Given the description of an element on the screen output the (x, y) to click on. 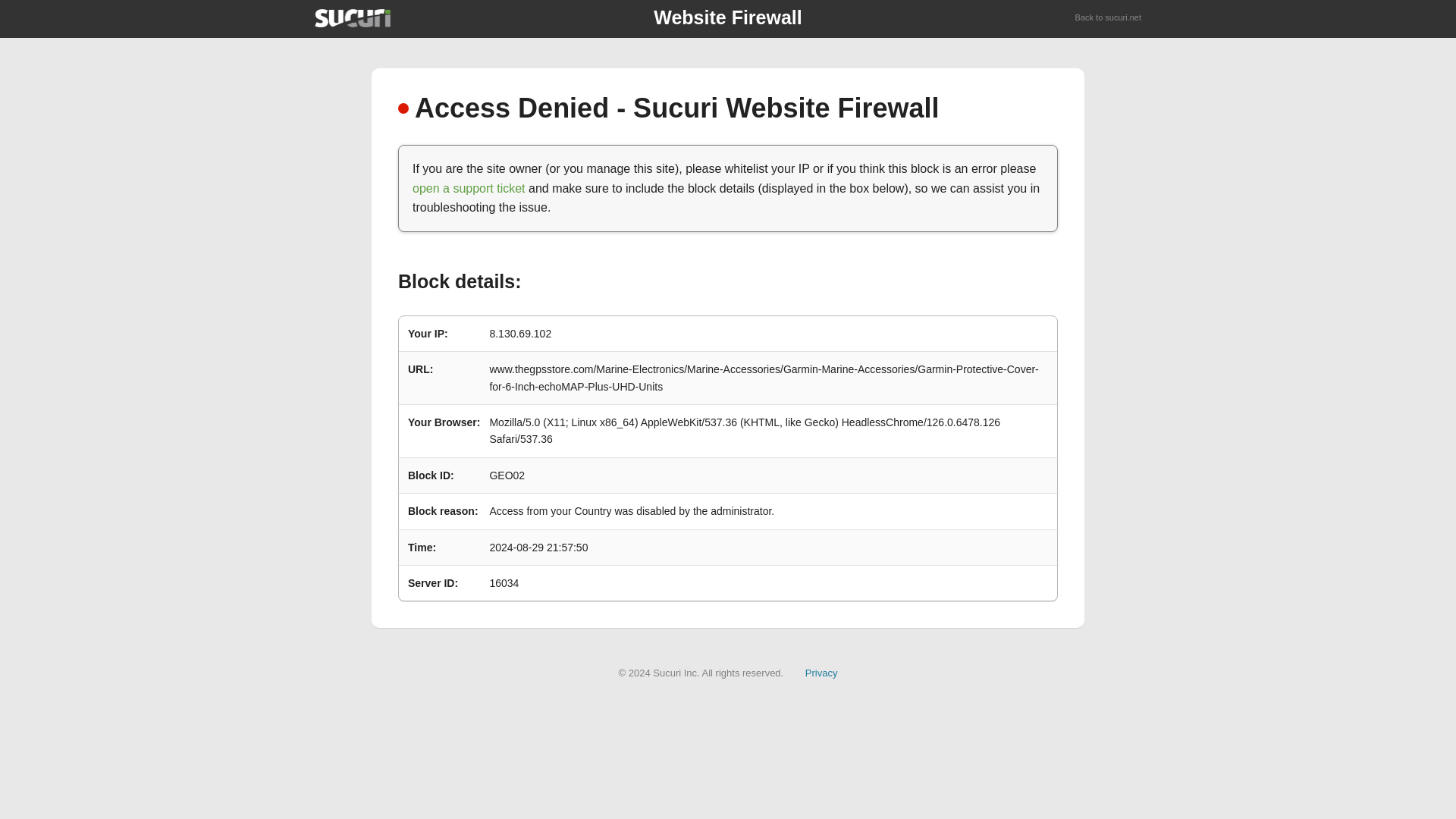
open a support ticket (468, 187)
Privacy (821, 672)
Back to sucuri.net (1108, 18)
